Given the description of an element on the screen output the (x, y) to click on. 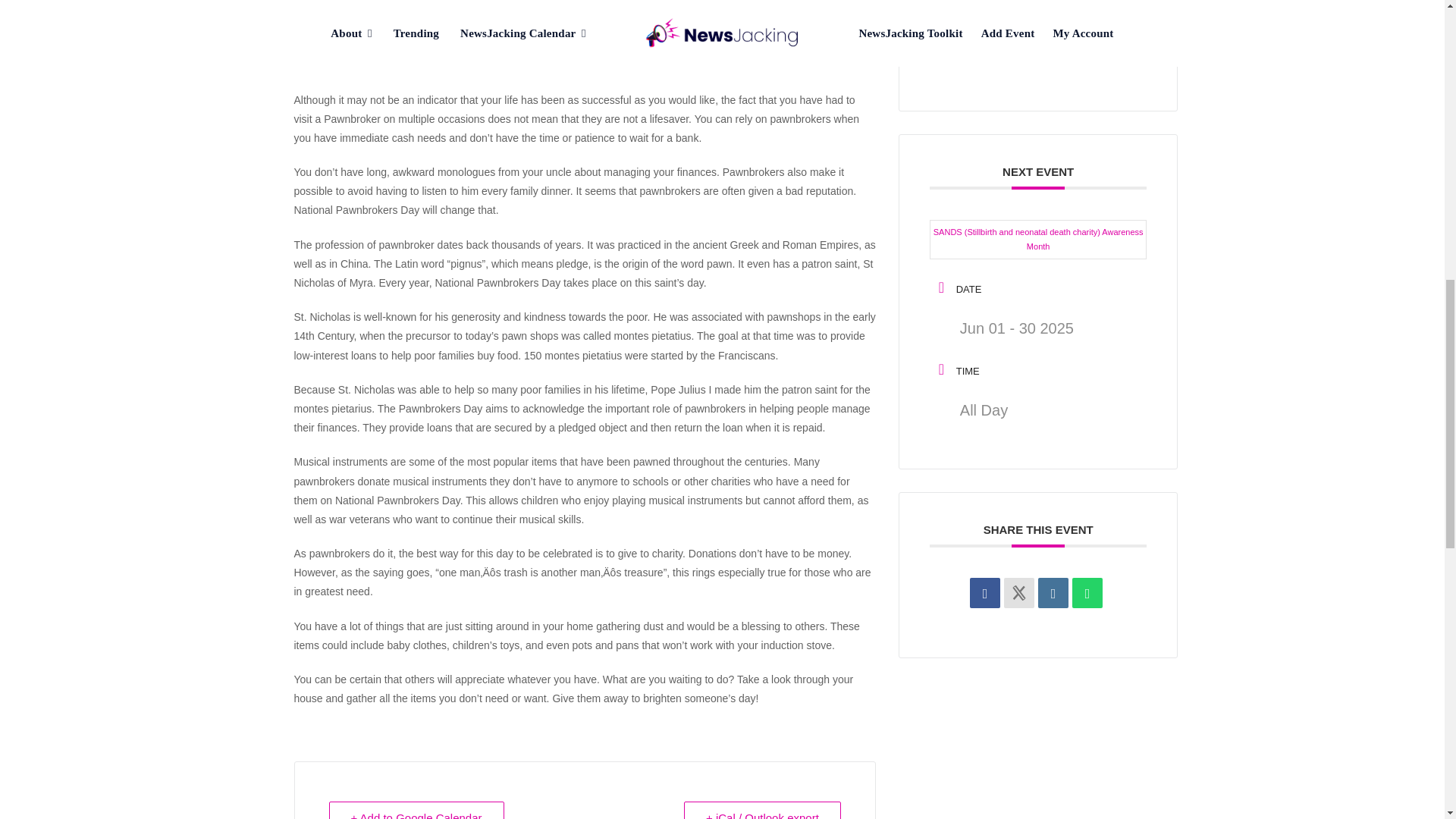
Share on WhatsApp (1086, 593)
Share on Facebook (984, 593)
Linkedin (1053, 593)
X Social Network (1018, 593)
